Given the description of an element on the screen output the (x, y) to click on. 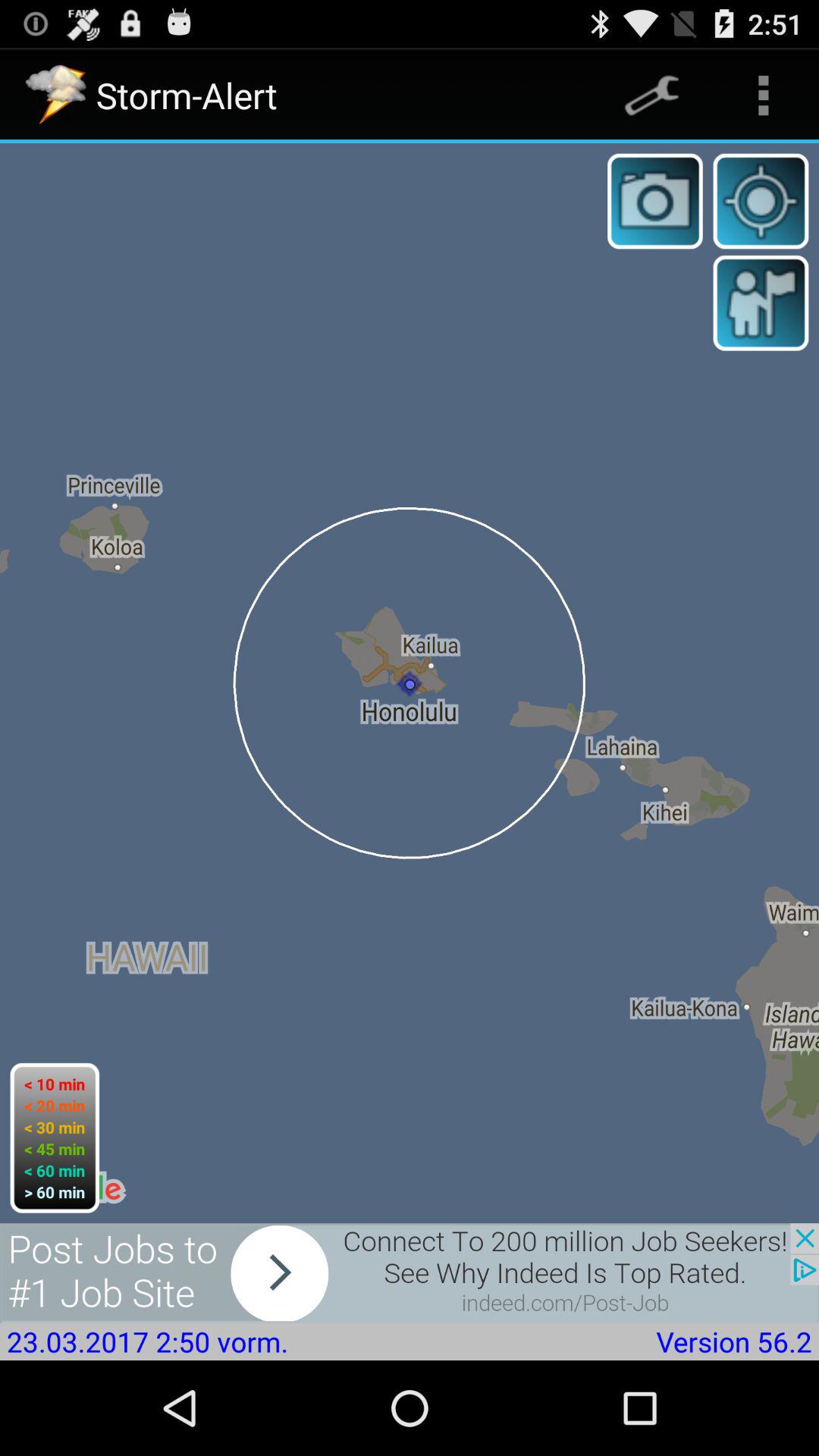
goes to advertisement (409, 1272)
